Given the description of an element on the screen output the (x, y) to click on. 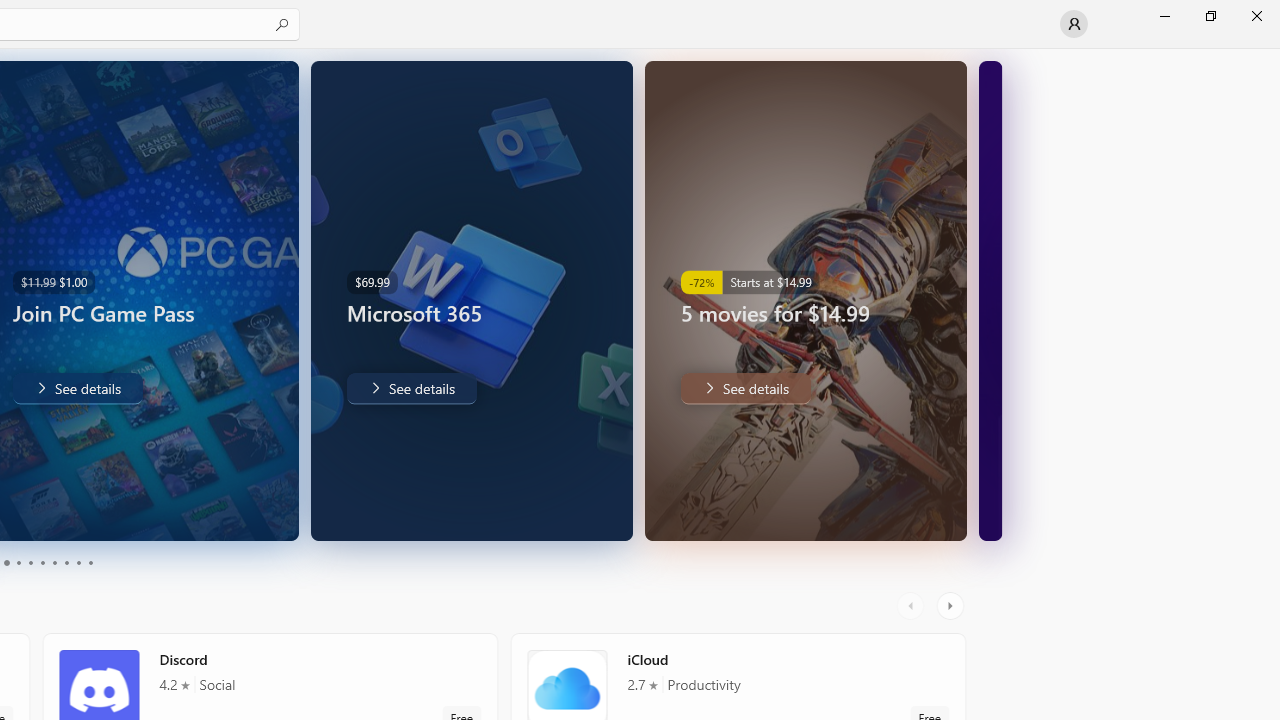
AutomationID: RightScrollButton (952, 606)
Page 7 (54, 562)
Page 3 (5, 562)
AutomationID: Image (989, 300)
Page 9 (77, 562)
Page 10 (90, 562)
Minimize Microsoft Store (1164, 15)
Close Microsoft Store (1256, 15)
Page 5 (29, 562)
Restore Microsoft Store (1210, 15)
User profile (1073, 24)
AutomationID: LeftScrollButton (913, 606)
Page 6 (41, 562)
